Given the description of an element on the screen output the (x, y) to click on. 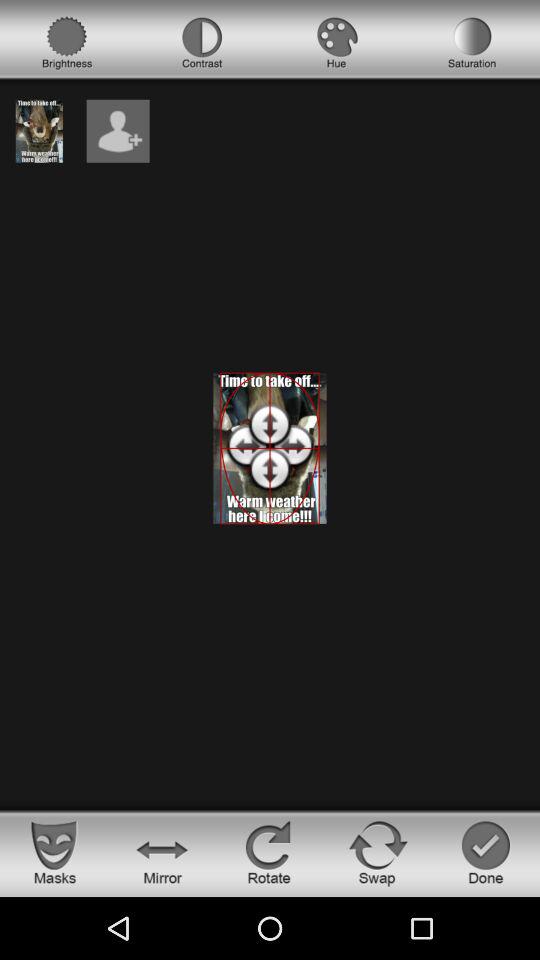
brightness options (67, 43)
